Given the description of an element on the screen output the (x, y) to click on. 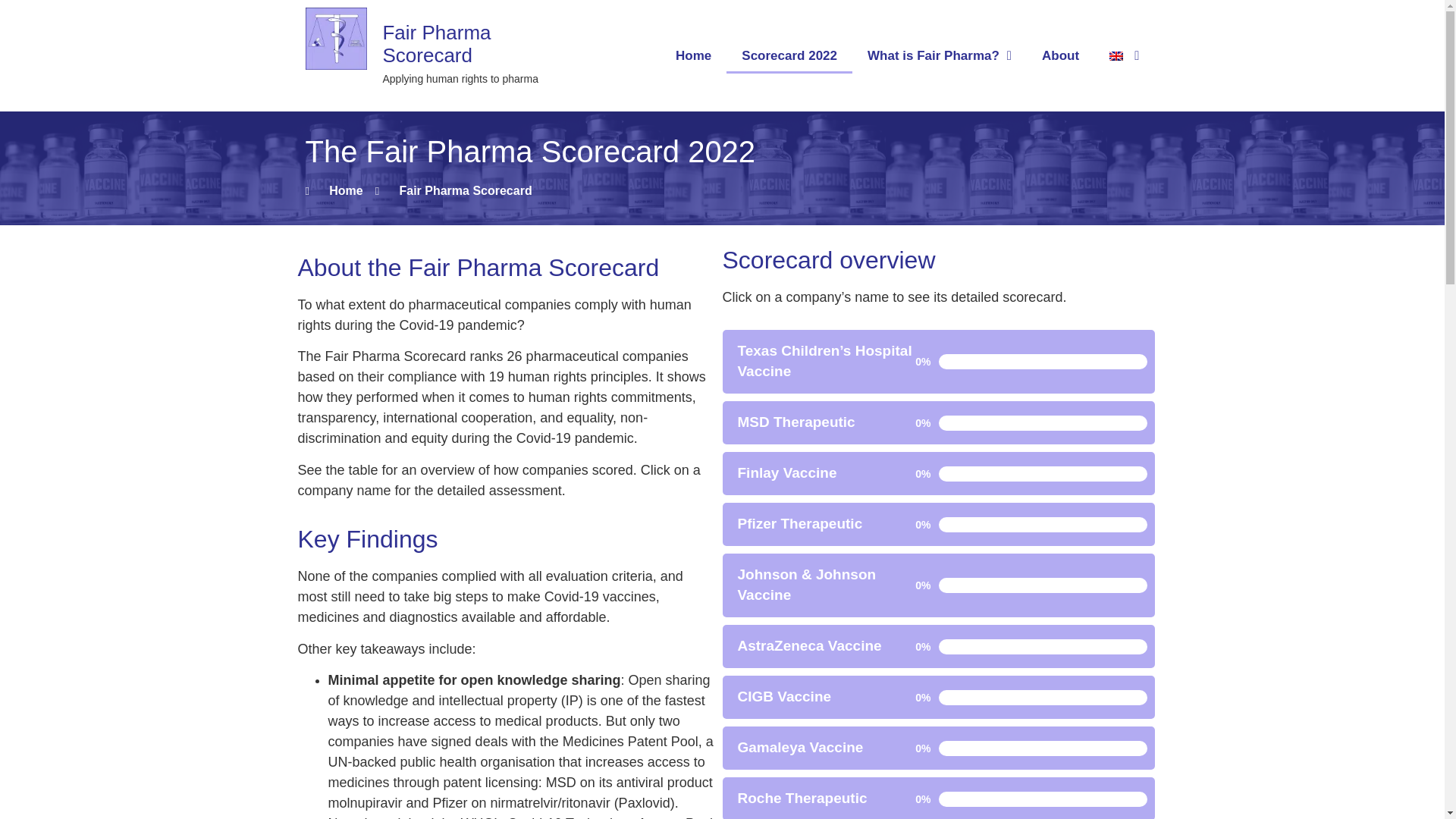
What is Fair Pharma? (938, 54)
About (1060, 54)
Scorecard 2022 (788, 54)
Home (333, 190)
Home (693, 54)
